Given the description of an element on the screen output the (x, y) to click on. 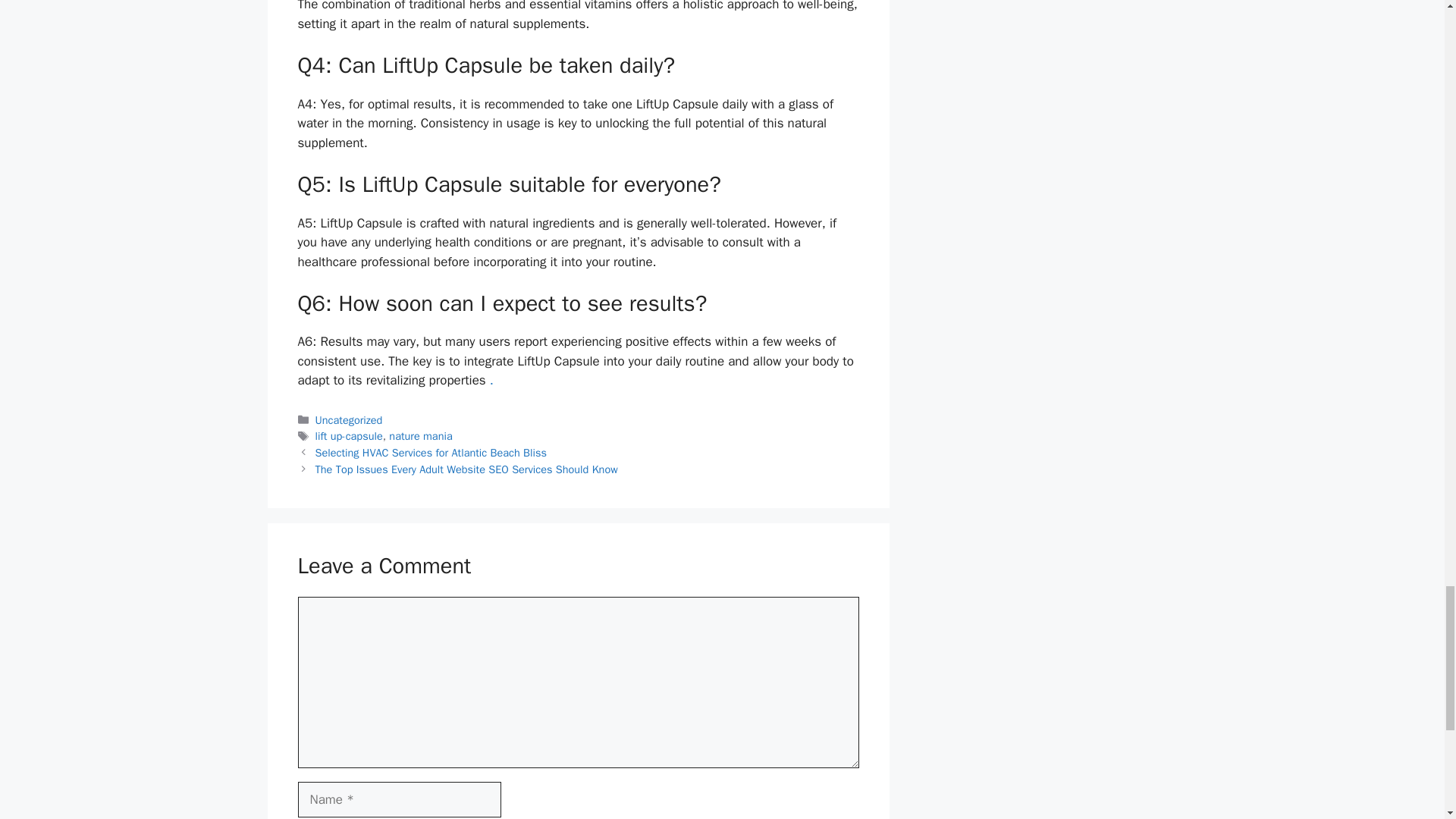
Uncategorized (348, 419)
Selecting HVAC Services for Atlantic Beach Bliss (431, 452)
lift up-capsule (348, 436)
nature mania (419, 436)
The Top Issues Every Adult Website SEO Services Should Know (466, 468)
